Given the description of an element on the screen output the (x, y) to click on. 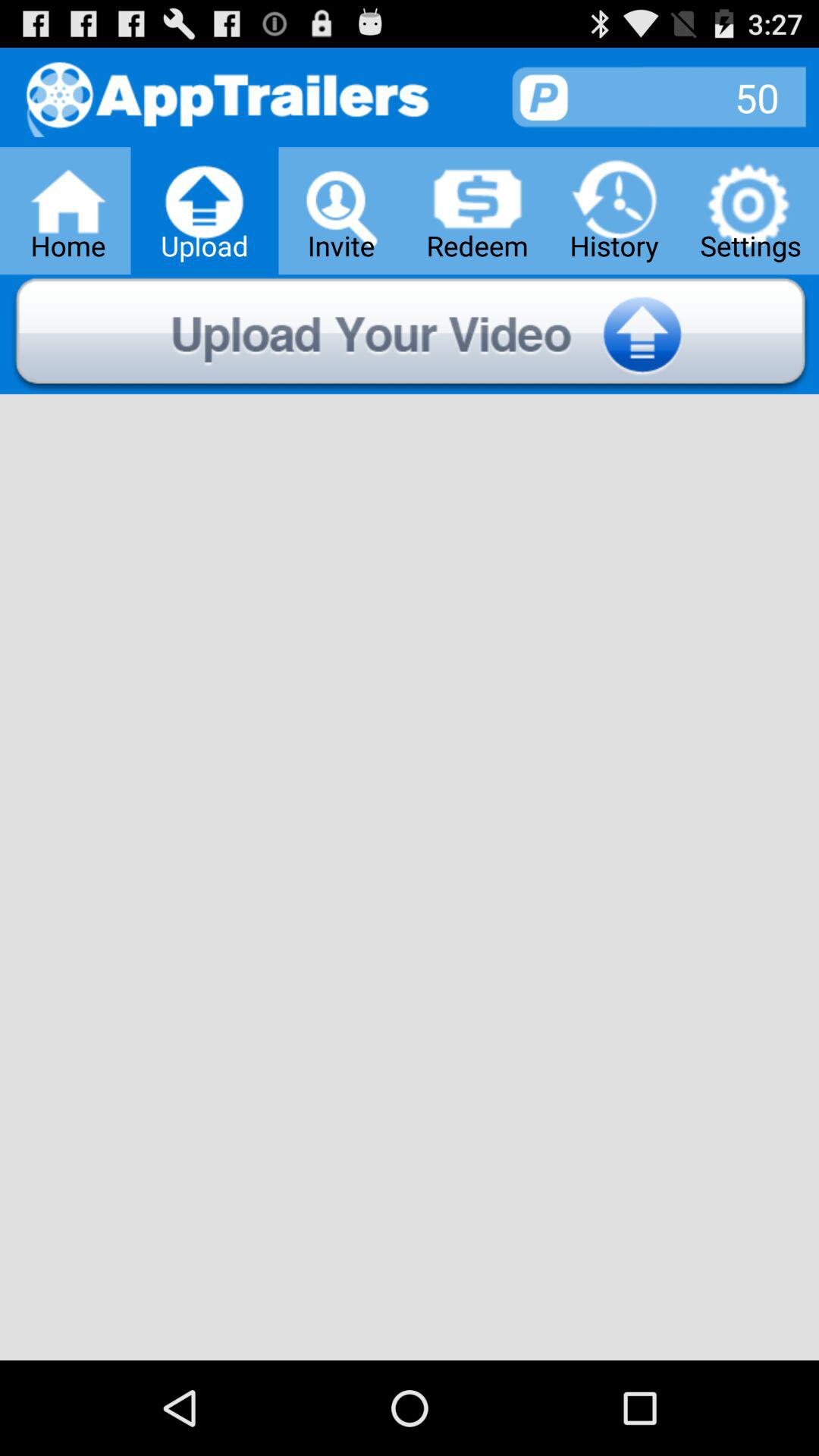
choose app below the home (409, 334)
